Given the description of an element on the screen output the (x, y) to click on. 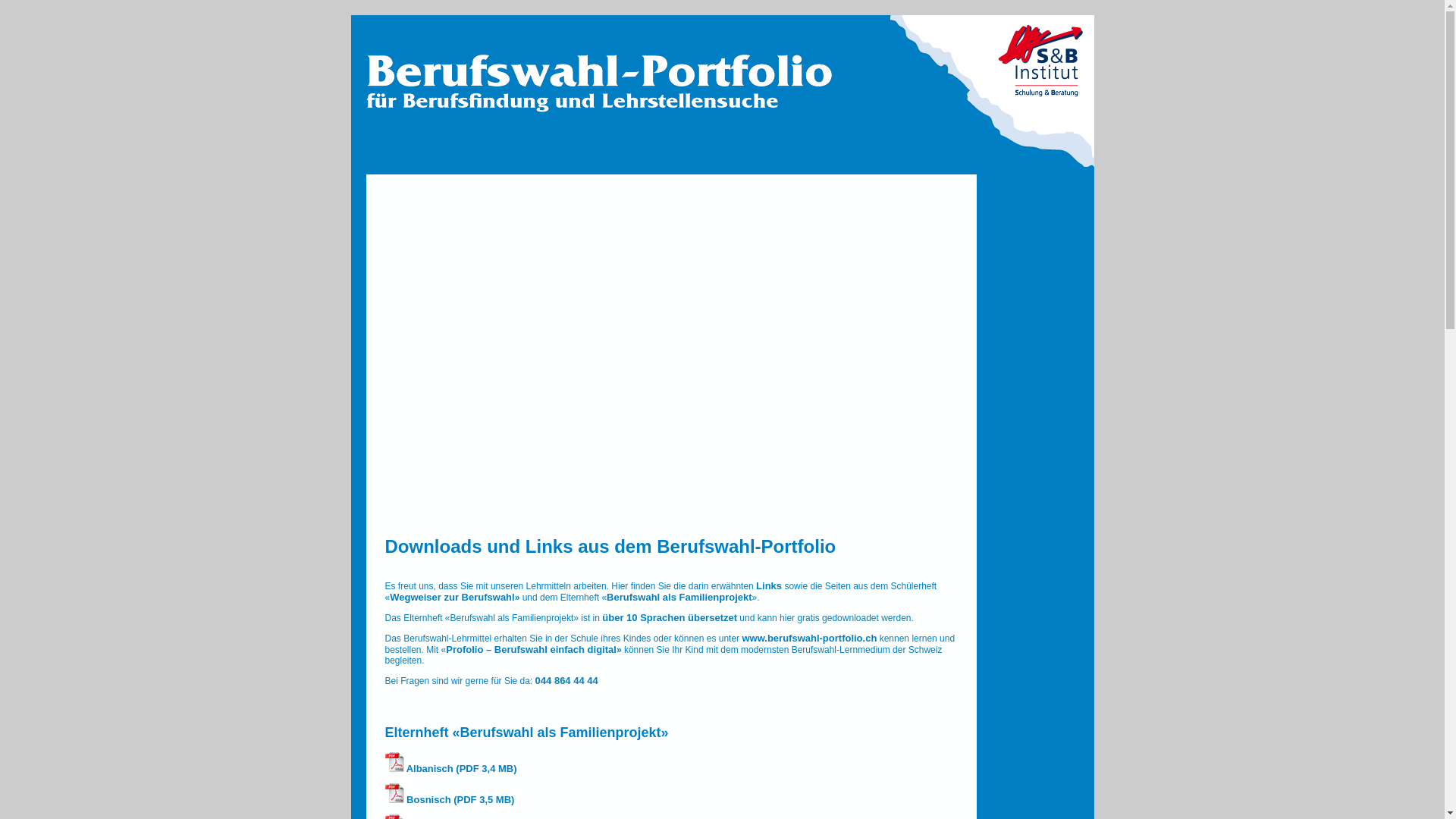
Links Element type: text (768, 585)
Berufswahl als Familienprojekt Element type: text (678, 596)
044 864 44 44 Element type: text (566, 680)
www.berufswahl-portfolio.ch Element type: text (808, 637)
Bosnisch (PDF 3,5 MB) Element type: text (449, 799)
Albanisch (PDF 3,4 MB) Element type: text (451, 768)
YouTube video player Element type: hover (658, 346)
Wegweiser zur Berufswahl Element type: text (451, 596)
